Given the description of an element on the screen output the (x, y) to click on. 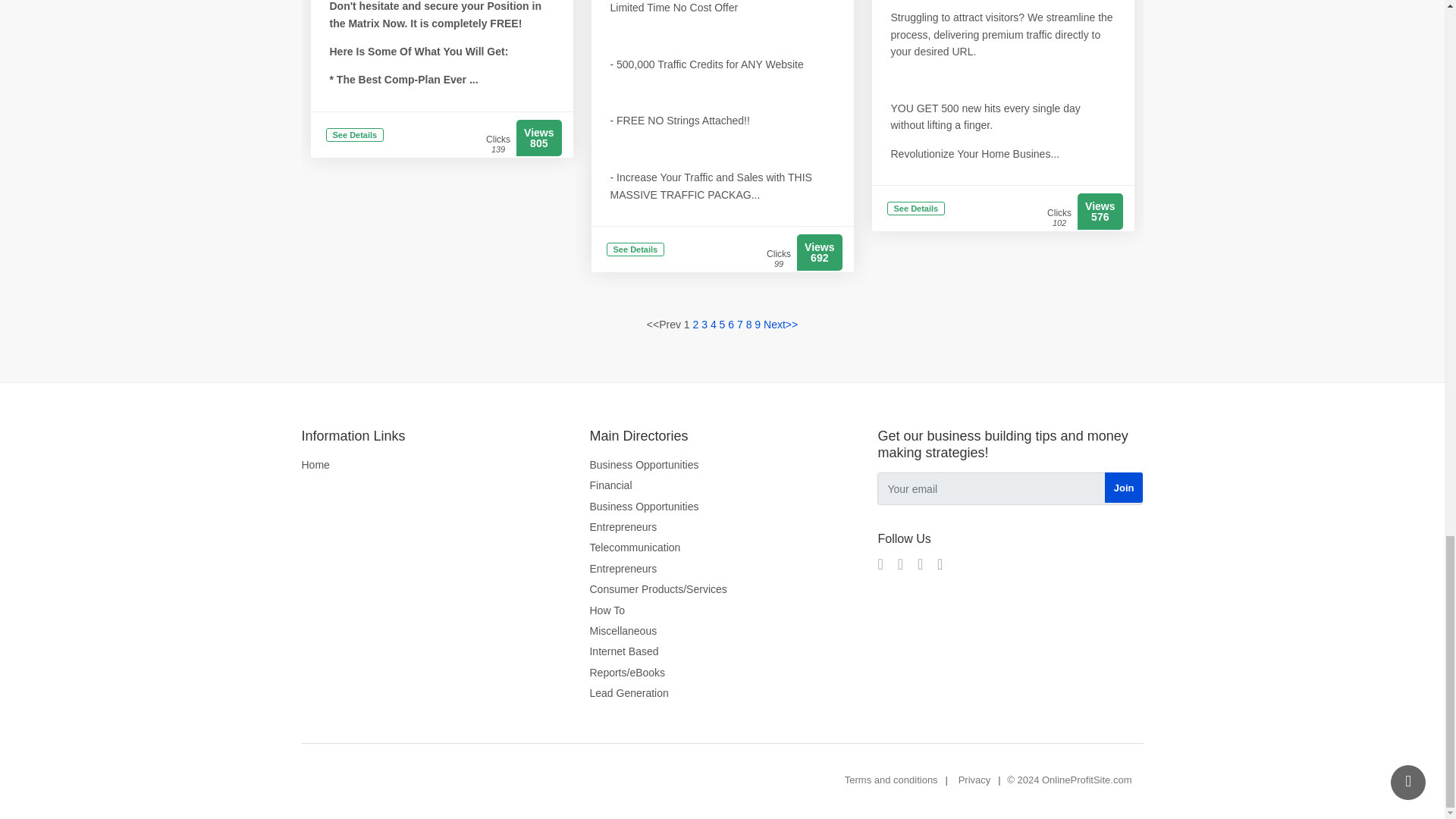
Join (1123, 487)
See Details (636, 250)
See Details (915, 209)
See Details (355, 135)
